Given the description of an element on the screen output the (x, y) to click on. 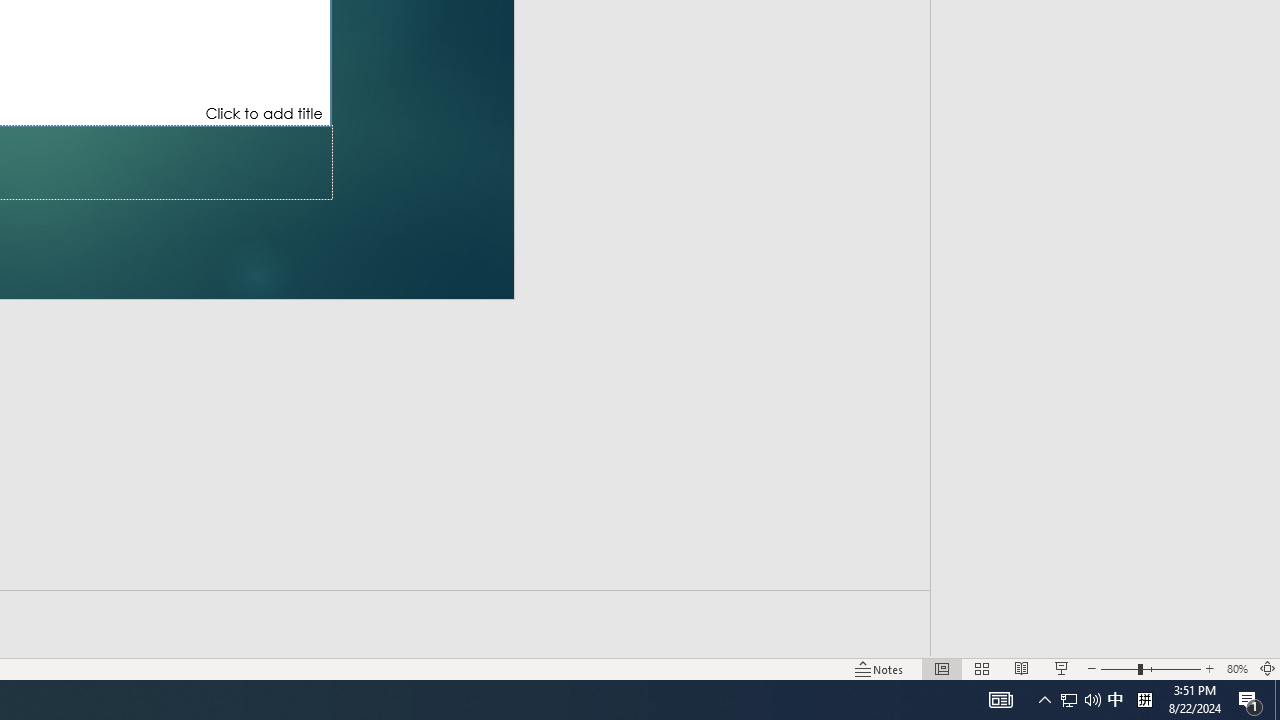
Bodo (1103, 40)
Dutch (1103, 654)
Divehi (1103, 572)
Chinese Simplified (1103, 326)
Czech (1103, 449)
Bosnian (1103, 81)
Cantonese (Traditional) (1103, 161)
Croatian (1103, 408)
